Given the description of an element on the screen output the (x, y) to click on. 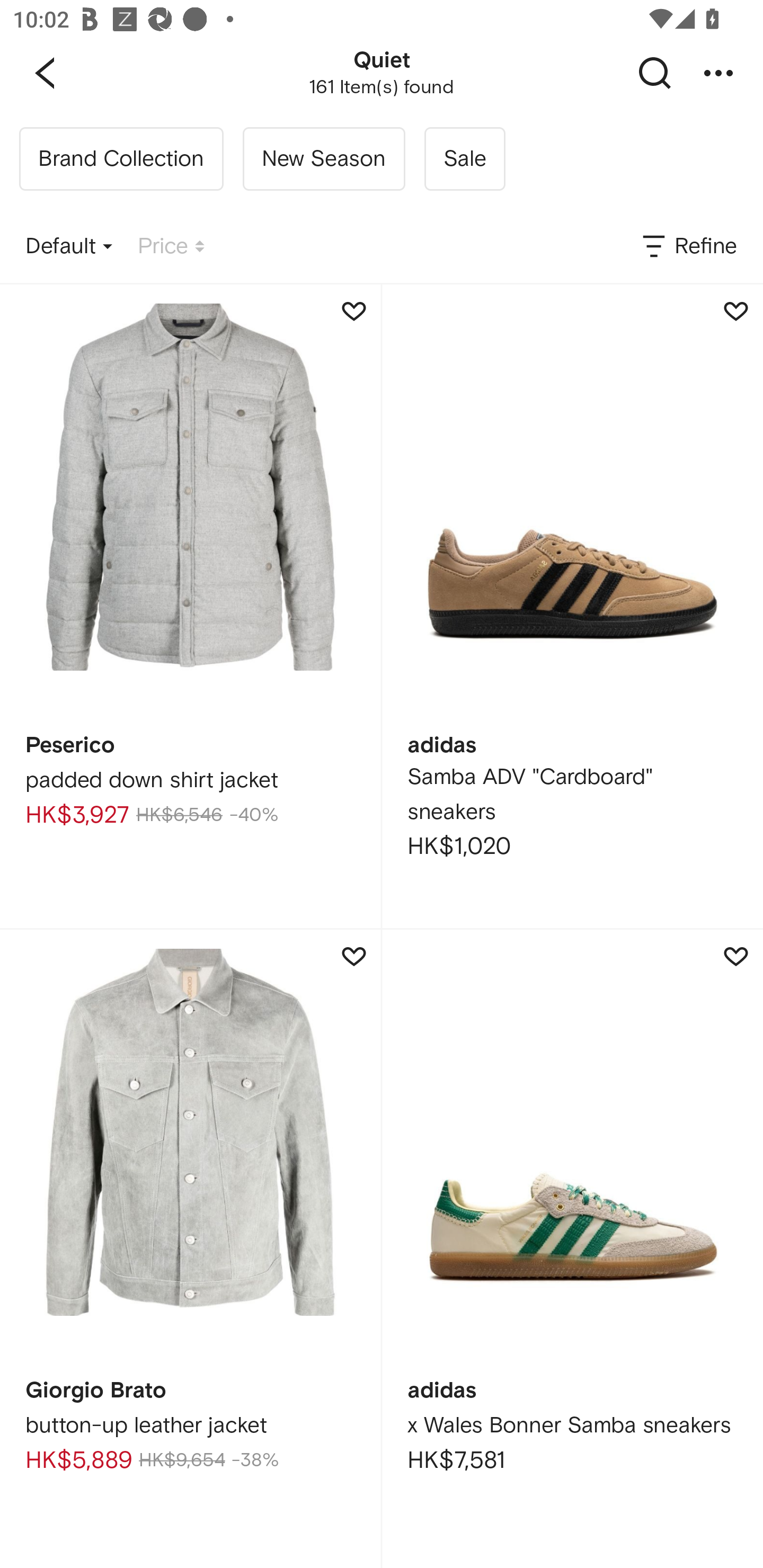
Brand Collection (121, 158)
New Season (323, 158)
Sale (464, 158)
Default (68, 246)
Price (171, 246)
Refine (688, 246)
adidas Samba ADV "Cardboard" sneakers HK$1,020 (572, 605)
adidas x Wales Bonner Samba sneakers HK$7,581 (572, 1248)
